Given the description of an element on the screen output the (x, y) to click on. 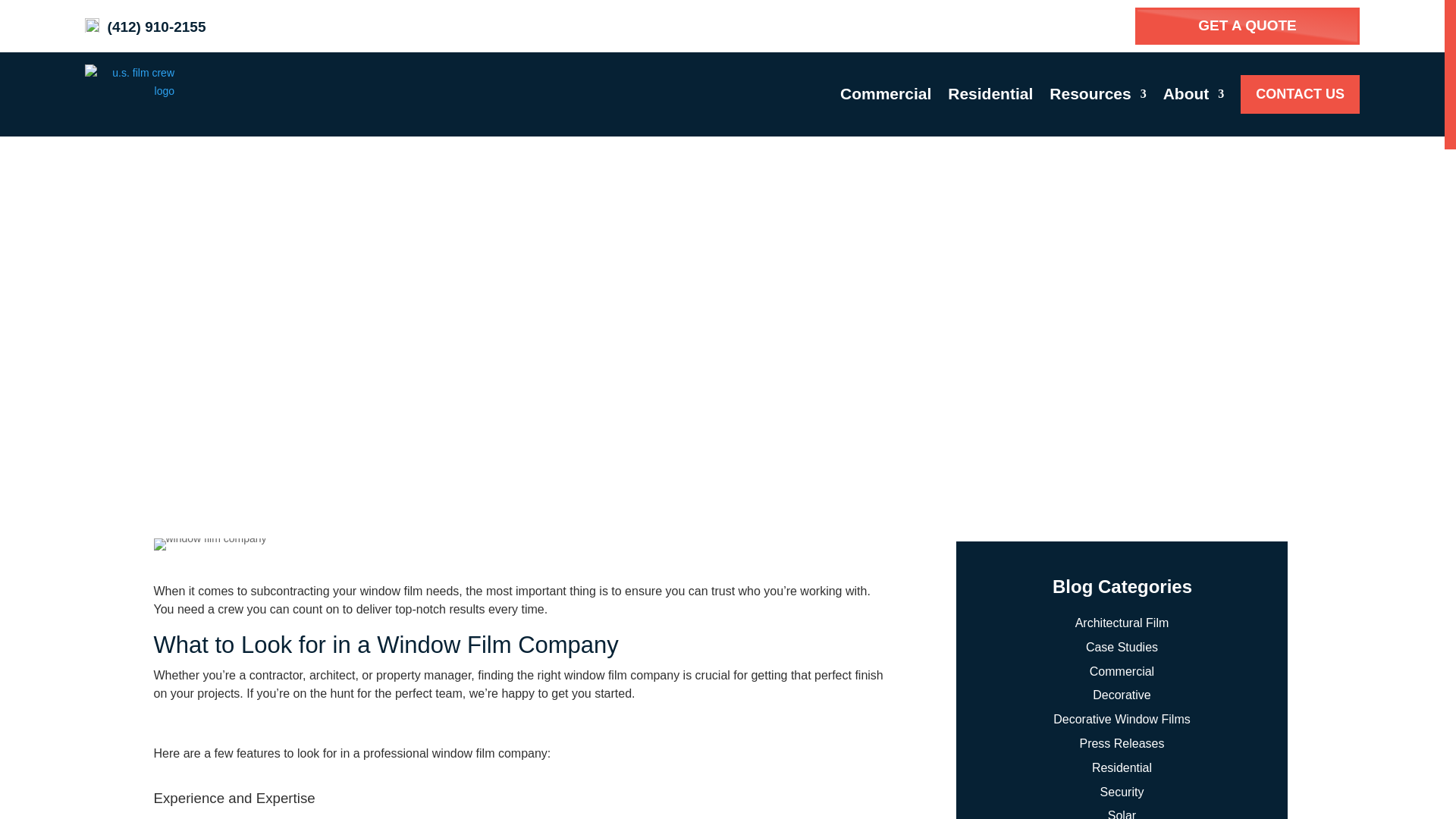
Resources (1097, 93)
Residential (989, 93)
CONTACT US (1299, 94)
About (1193, 93)
Commercial (885, 93)
